Given the description of an element on the screen output the (x, y) to click on. 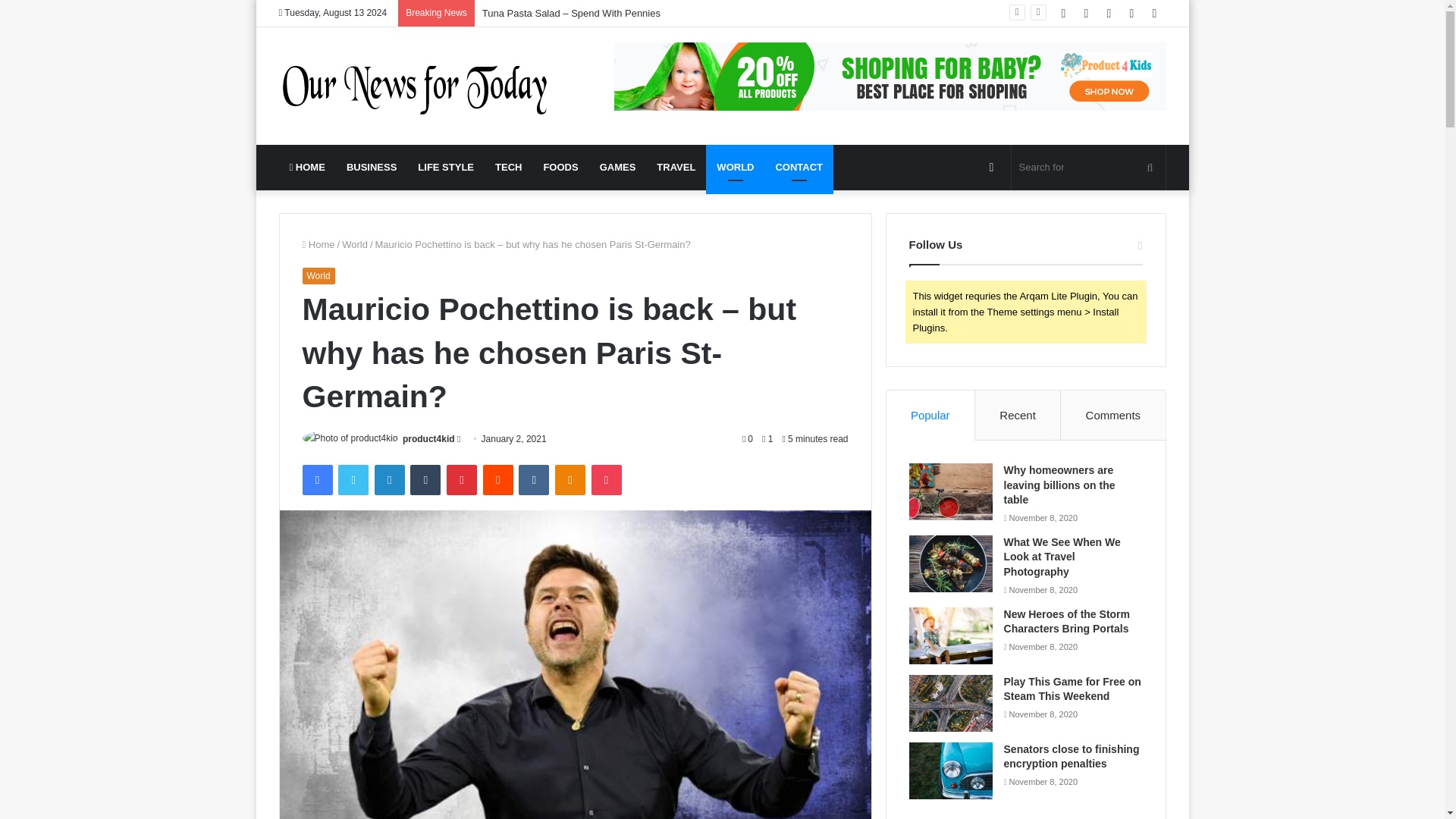
Tumblr (425, 480)
VKontakte (533, 480)
LinkedIn (389, 480)
Pocket (606, 480)
BUSINESS (371, 167)
LIFE STYLE (445, 167)
Search for (1088, 167)
Facebook (316, 480)
Twitter (352, 480)
Facebook (316, 480)
